Given the description of an element on the screen output the (x, y) to click on. 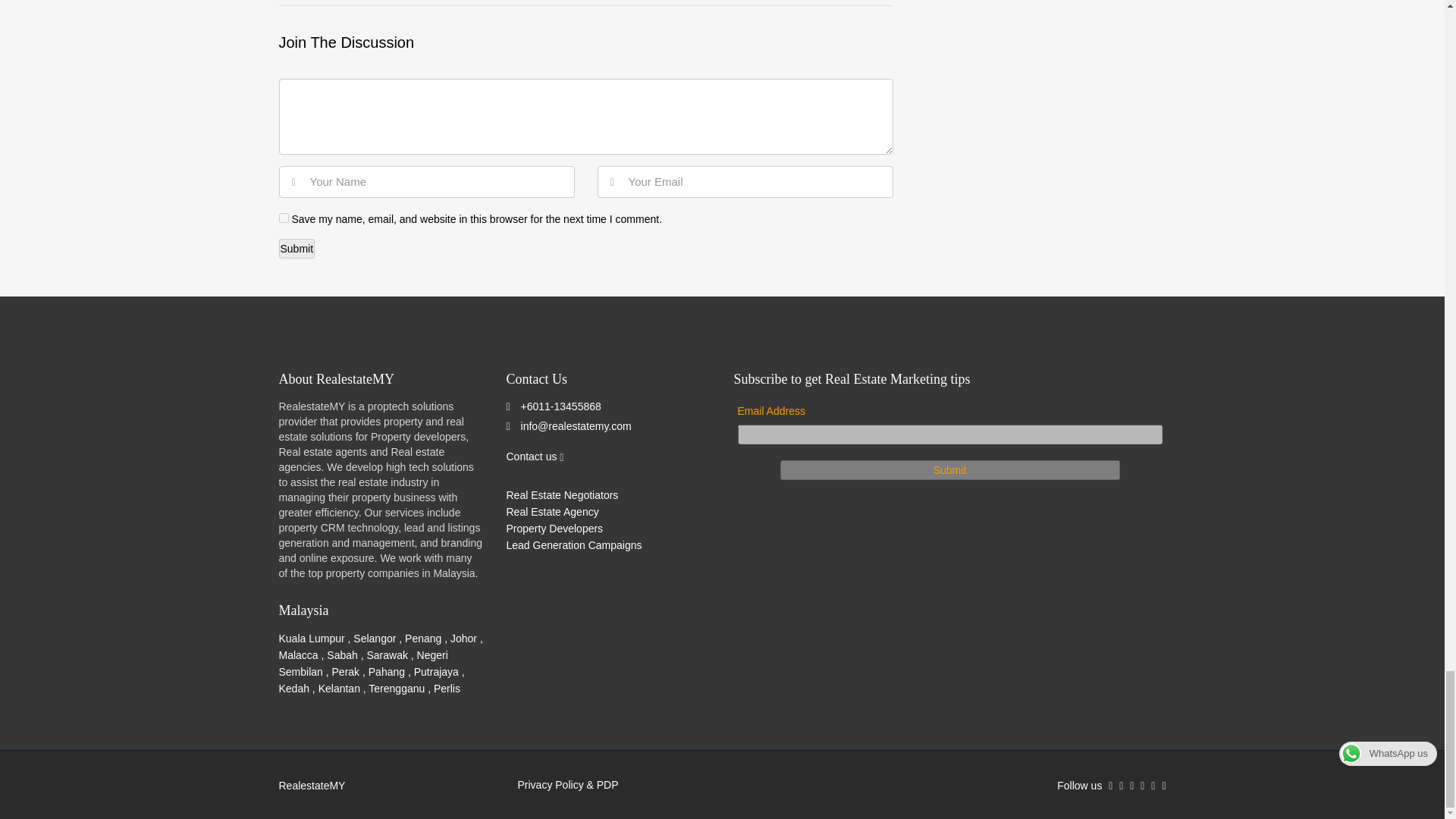
Submit (297, 248)
yes (283, 217)
Submit (948, 469)
